Given the description of an element on the screen output the (x, y) to click on. 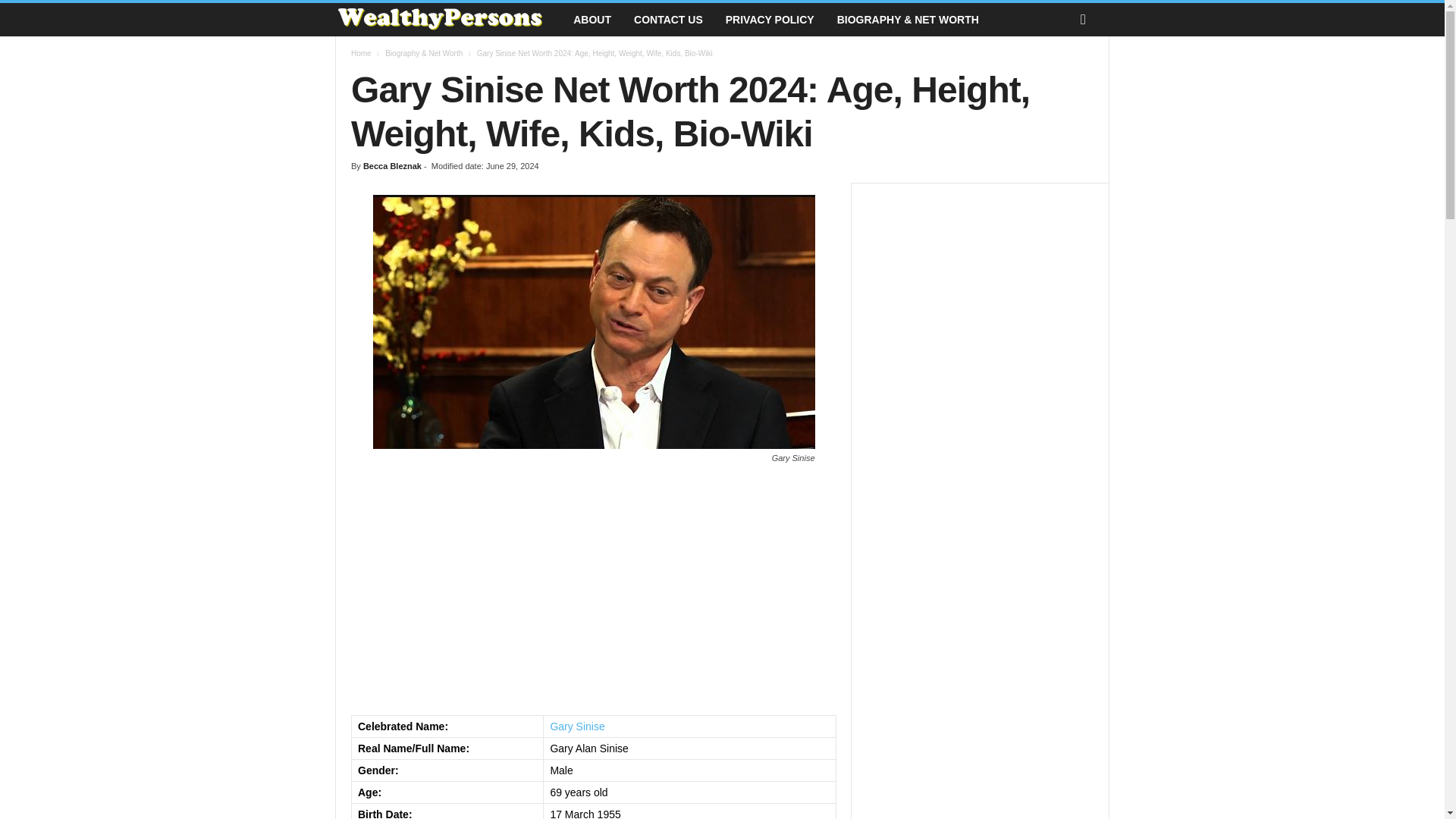
Gary Sinise (577, 726)
Becca Bleznak (392, 165)
CONTACT US (668, 19)
Advertisement (592, 590)
PRIVACY POLICY (769, 19)
Advertisement (980, 756)
Wealthy Persons (448, 19)
Home (360, 53)
ABOUT (592, 19)
